Given the description of an element on the screen output the (x, y) to click on. 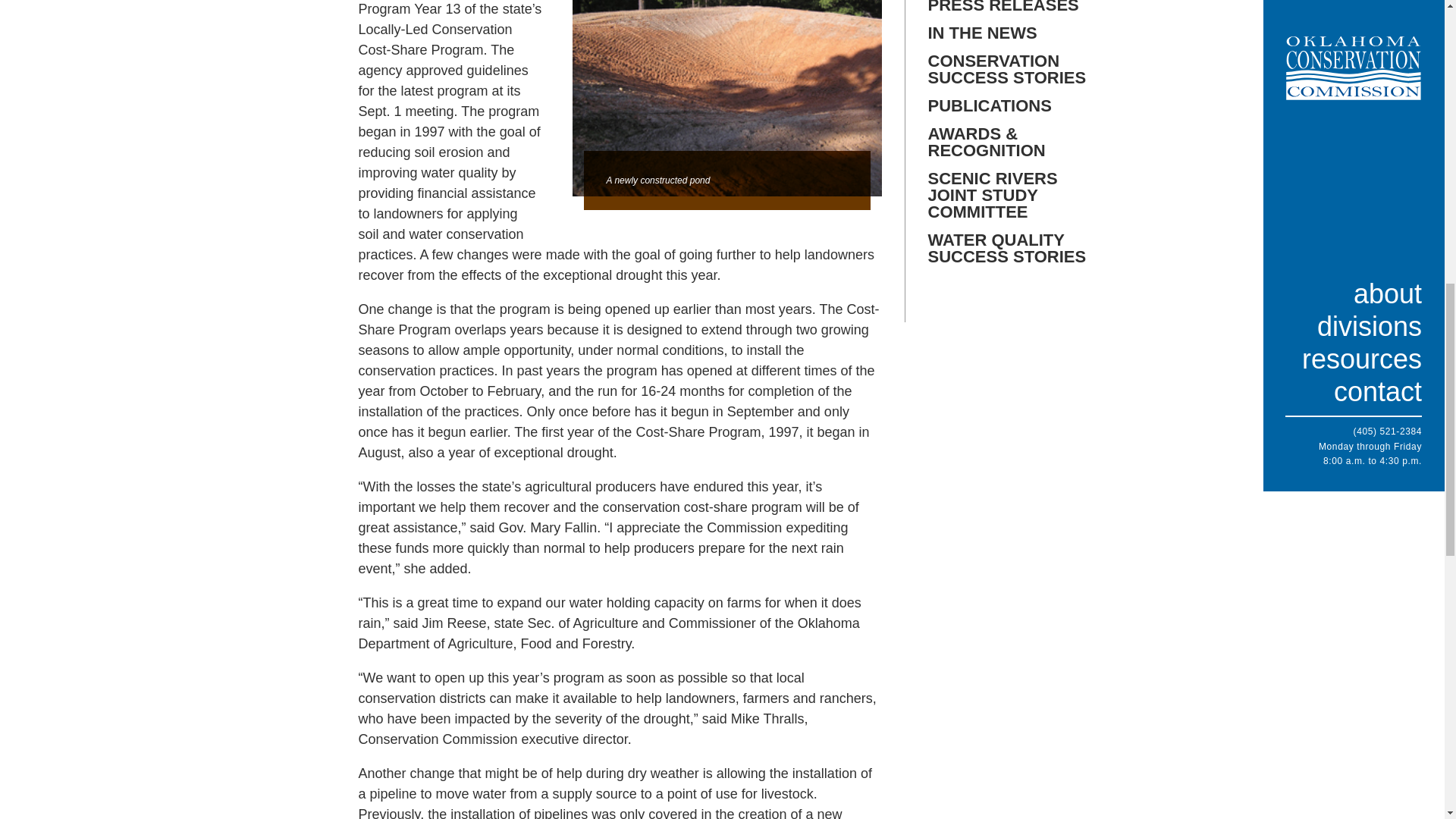
PRESS RELEASES (1007, 6)
IN THE NEWS (1007, 33)
CONSERVATION SUCCESS STORIES (1007, 69)
PUBLICATIONS (1007, 105)
WATER QUALITY SUCCESS STORIES (1007, 248)
SCENIC RIVERS JOINT STUDY COMMITTEE (1007, 195)
